Given the description of an element on the screen output the (x, y) to click on. 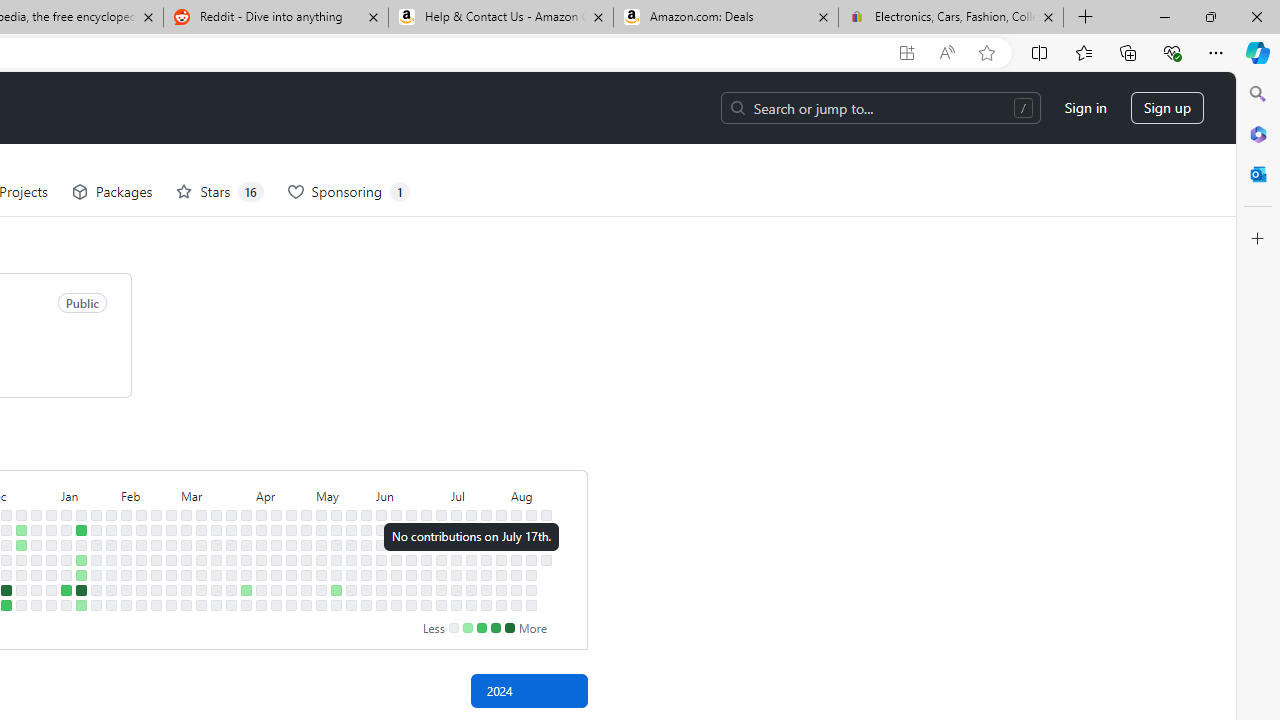
2 contributions on January 12th. (66, 589)
No contributions on March 29th. (231, 589)
No contributions on March 8th. (186, 589)
No contributions on December 29th. (36, 589)
No contributions on December 10th. (6, 515)
No contributions on January 22nd. (96, 529)
No contributions on May 29th. (366, 559)
No contributions on January 8th. (66, 529)
No contributions on May 10th. (321, 589)
No contributions on April 29th. (306, 529)
No contributions on March 15th. (201, 589)
No contributions on July 7th. (456, 515)
No contributions on January 10th. (66, 559)
